Given the description of an element on the screen output the (x, y) to click on. 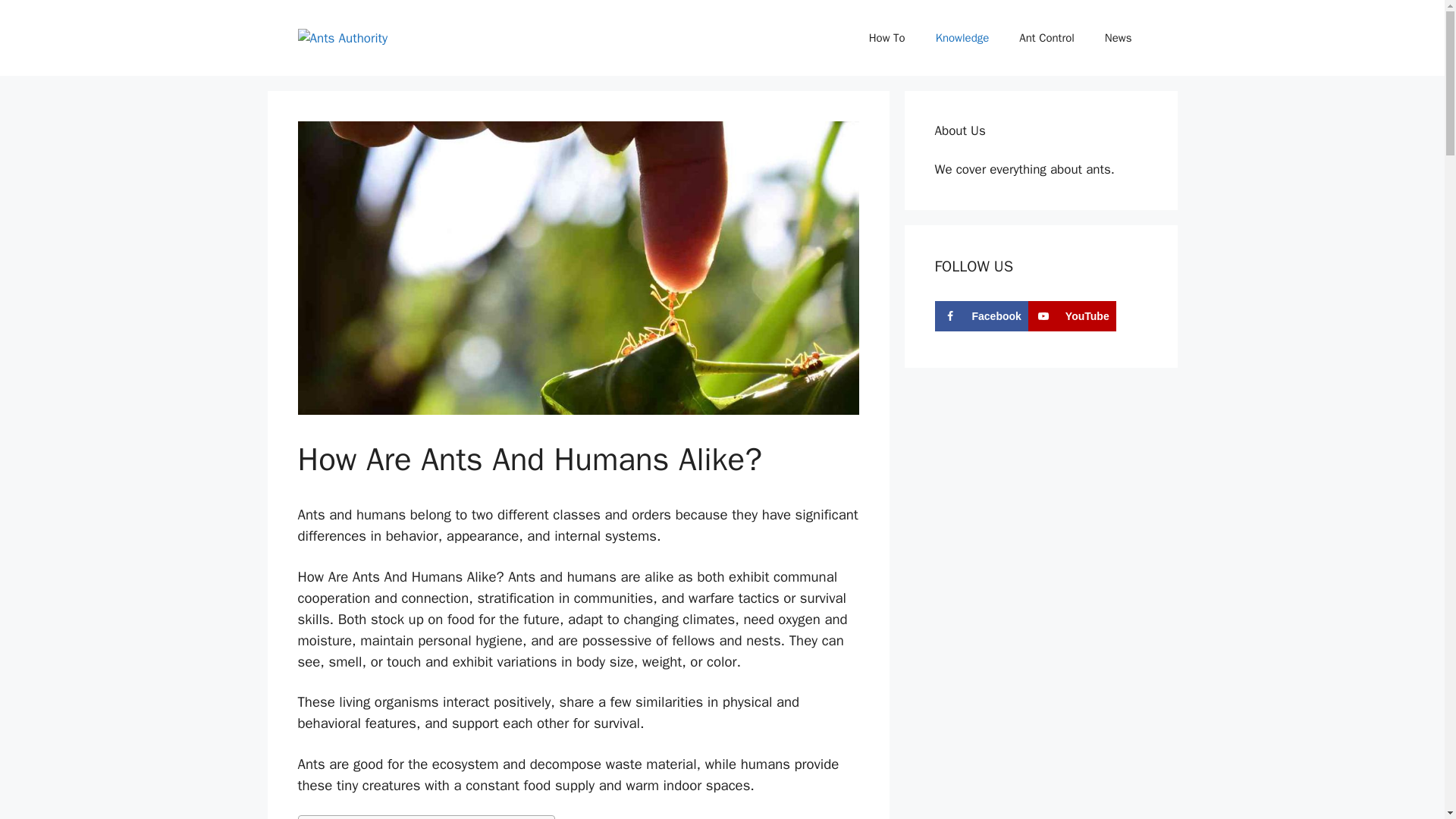
Ant Control (1046, 37)
Facebook (980, 315)
Knowledge (962, 37)
Follow on Facebook (980, 315)
News (1118, 37)
Follow on YouTube (1071, 315)
YouTube (1071, 315)
How To (886, 37)
